Given the description of an element on the screen output the (x, y) to click on. 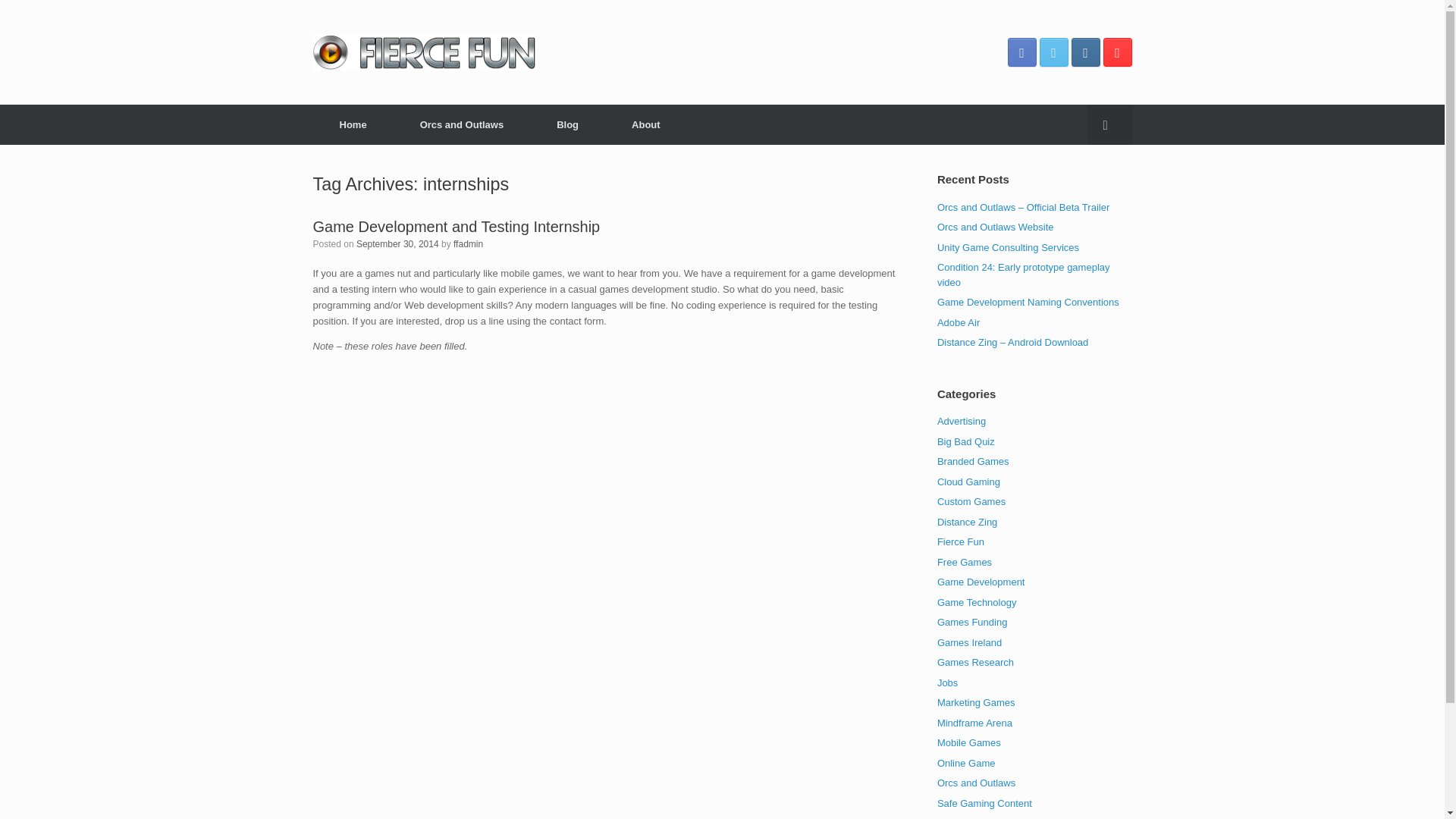
Game Development and Testing Internship (456, 226)
Marketing Games (975, 702)
Games Ireland (969, 642)
Unity Game Consulting Services (1007, 246)
Condition 24: Early prototype gameplay video (1023, 274)
Mobile Games (969, 742)
Games Funding (972, 622)
Fierce Fun Instagram (1084, 51)
Fierce Fun Facebook (1021, 51)
ffadmin (467, 244)
Big Bad Quiz (965, 440)
Free Games (964, 562)
Adobe Air (958, 322)
8:29 pm (397, 244)
Orcs and Outlaws (975, 782)
